Given the description of an element on the screen output the (x, y) to click on. 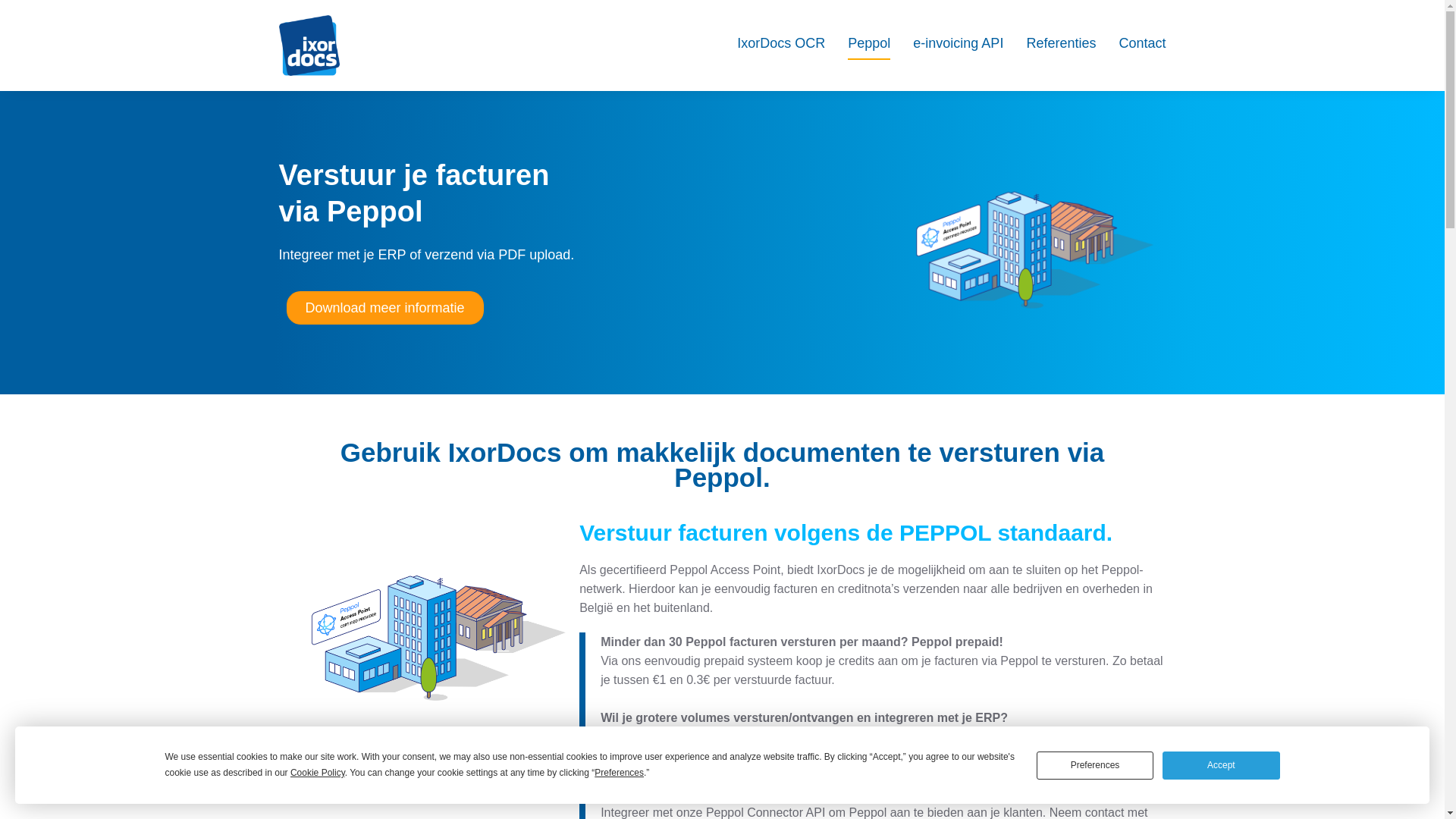
e-invoicing API Element type: text (958, 45)
Referenties Element type: text (1060, 45)
Contact Element type: text (1141, 45)
IxorDocs OCR Element type: text (781, 45)
Accept Element type: text (1220, 764)
Download meer informatie Element type: text (384, 307)
Peppol Element type: text (868, 45)
Preferences Element type: text (1094, 764)
